Given the description of an element on the screen output the (x, y) to click on. 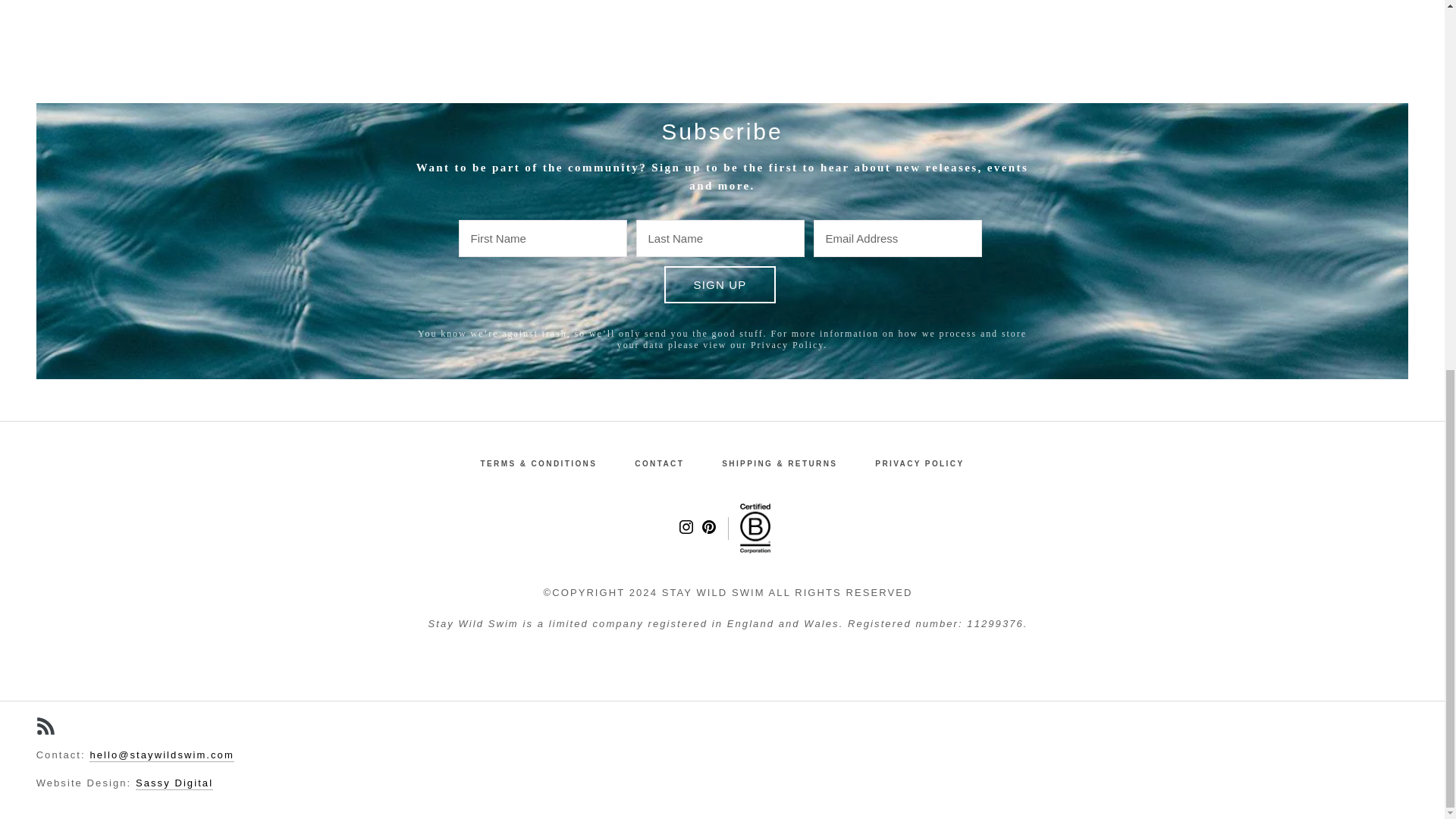
SIGN UP (719, 284)
SIGN UP (719, 284)
CONTACT (659, 463)
